Given the description of an element on the screen output the (x, y) to click on. 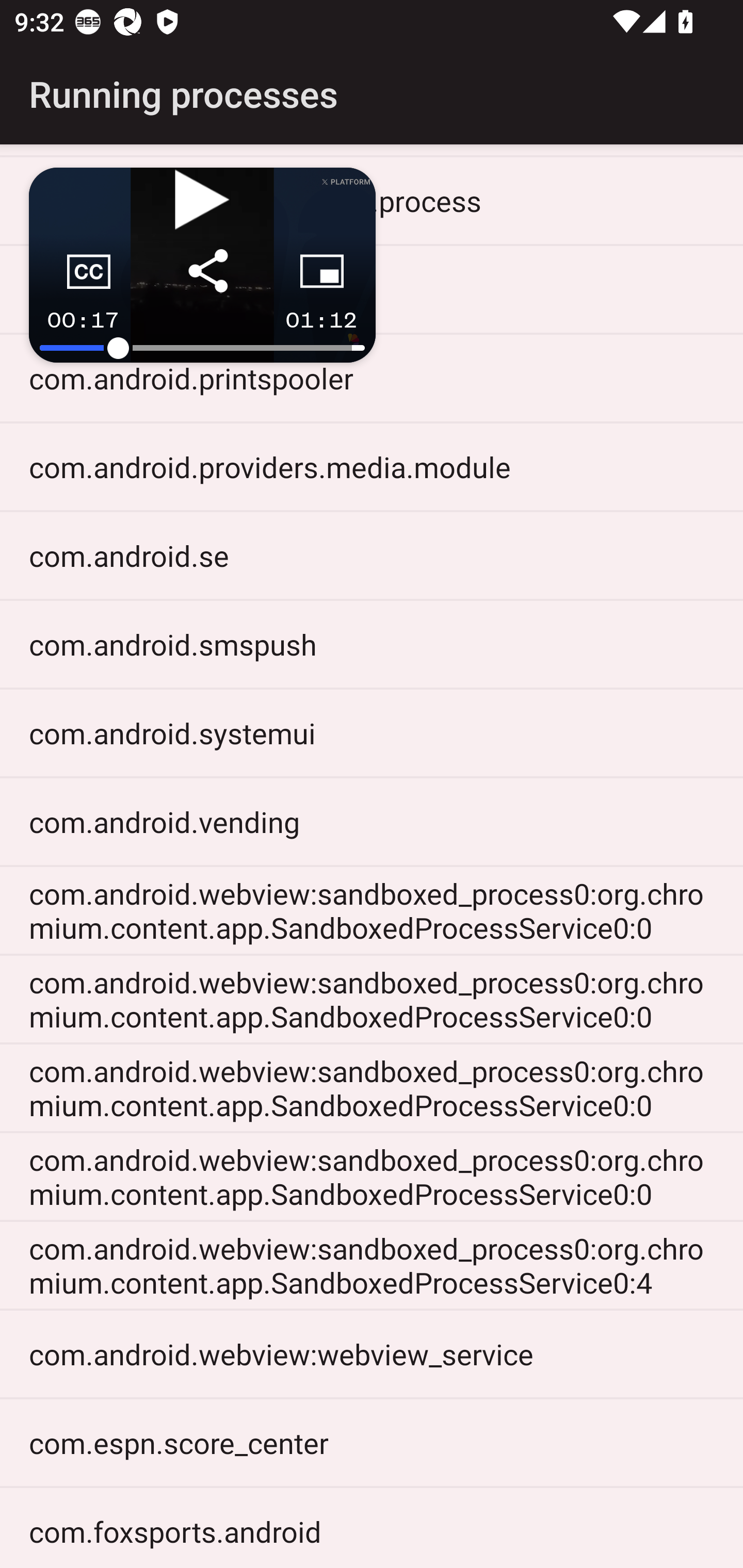
com.android.printspooler (371, 377)
com.android.providers.media.module (371, 466)
com.android.se (371, 555)
com.android.smspush (371, 643)
com.android.systemui (371, 732)
com.android.vending (371, 821)
com.android.webview:webview_service (371, 1353)
com.espn.score_center (371, 1442)
com.foxsports.android (371, 1528)
